Given the description of an element on the screen output the (x, y) to click on. 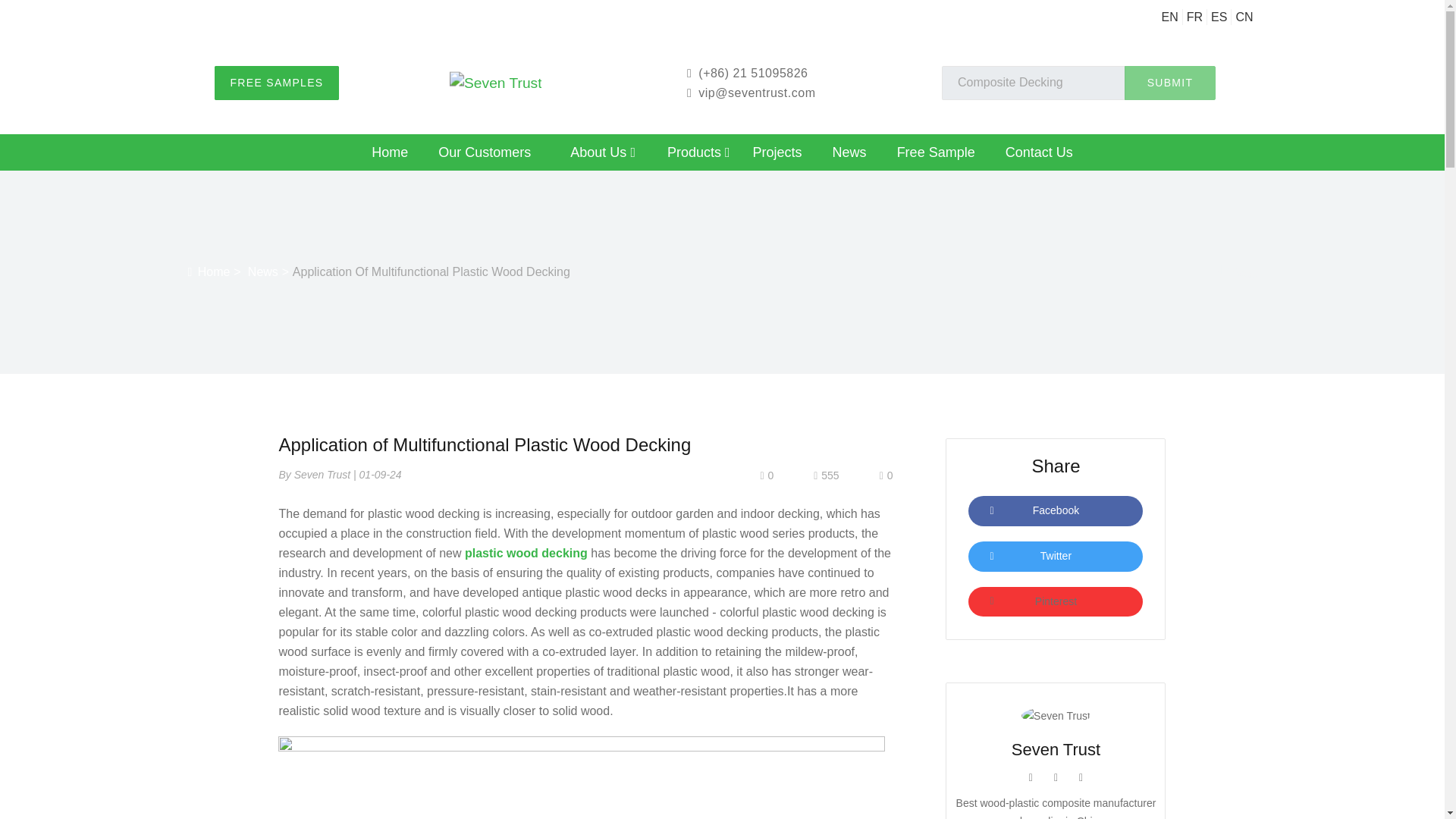
EN (1169, 17)
ES (1219, 17)
About Us (602, 155)
Our Customers (484, 155)
Our Customers (484, 155)
SUBMIT (1169, 82)
FREE SAMPLES (276, 82)
About Us  (602, 155)
Home (389, 155)
Home (389, 155)
CN (1243, 17)
Products  (698, 155)
FR (1194, 17)
